Given the description of an element on the screen output the (x, y) to click on. 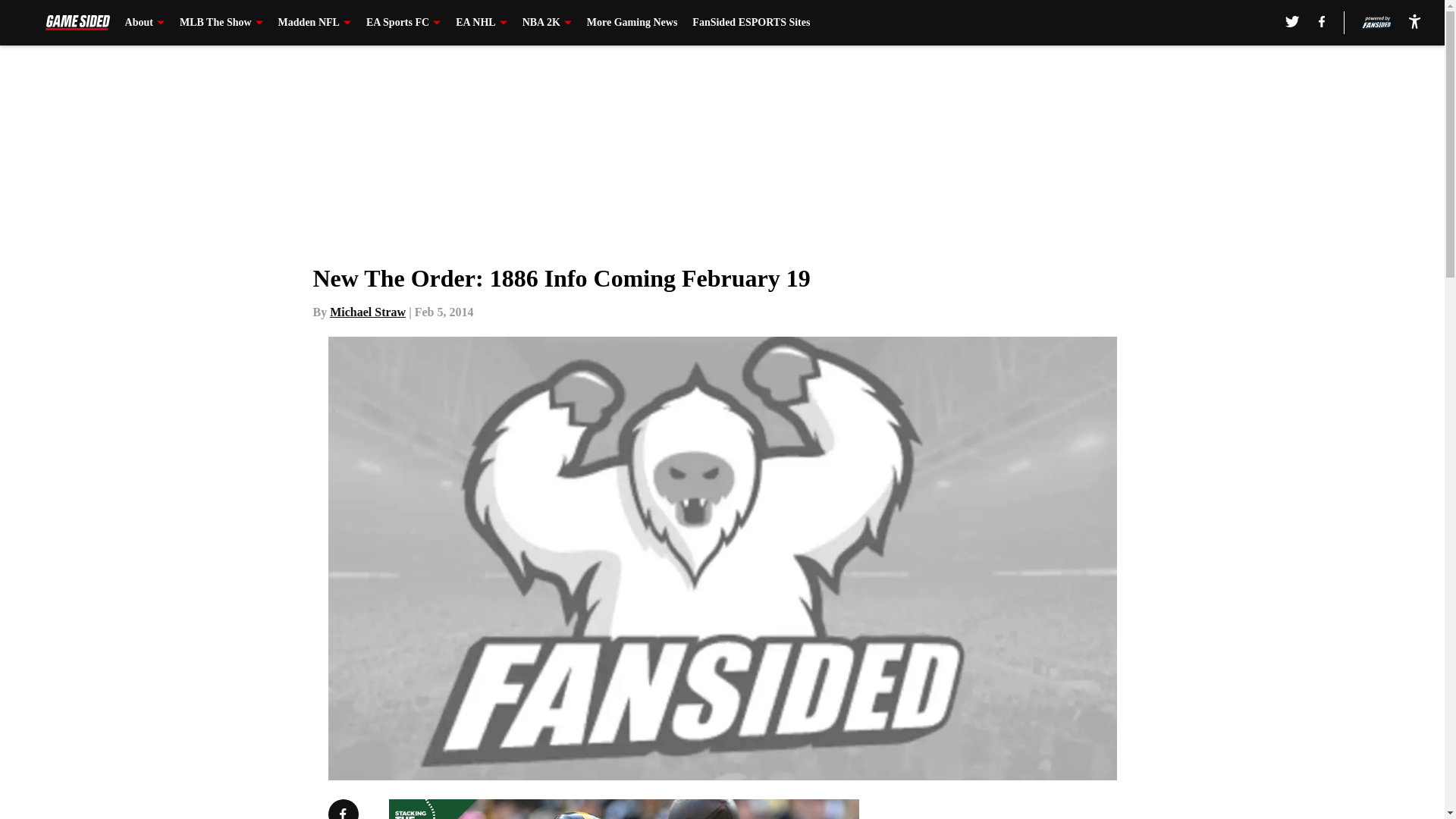
Michael Straw (368, 311)
FanSided ESPORTS Sites (751, 22)
More Gaming News (632, 22)
